Given the description of an element on the screen output the (x, y) to click on. 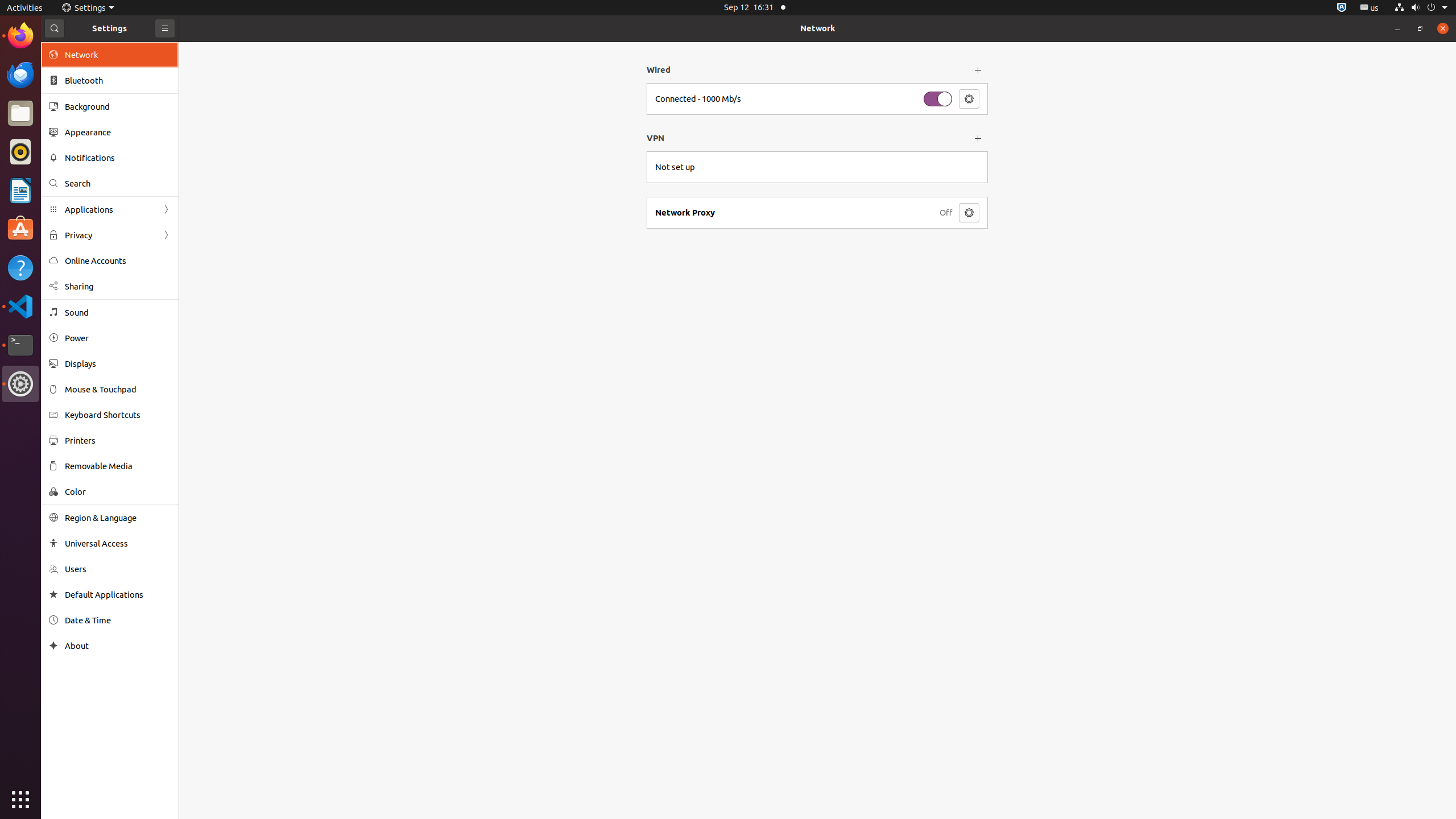
Printers Element type: label (117, 440)
Settings Element type: menu (87, 7)
Region & Language Element type: label (117, 517)
Universal Access Element type: label (117, 543)
